Given the description of an element on the screen output the (x, y) to click on. 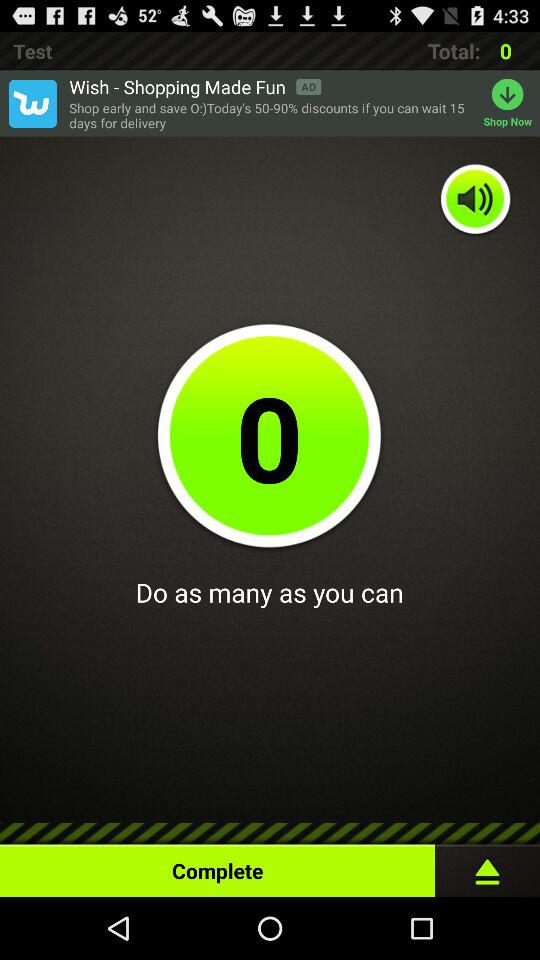
jump to shop early and icon (271, 115)
